Given the description of an element on the screen output the (x, y) to click on. 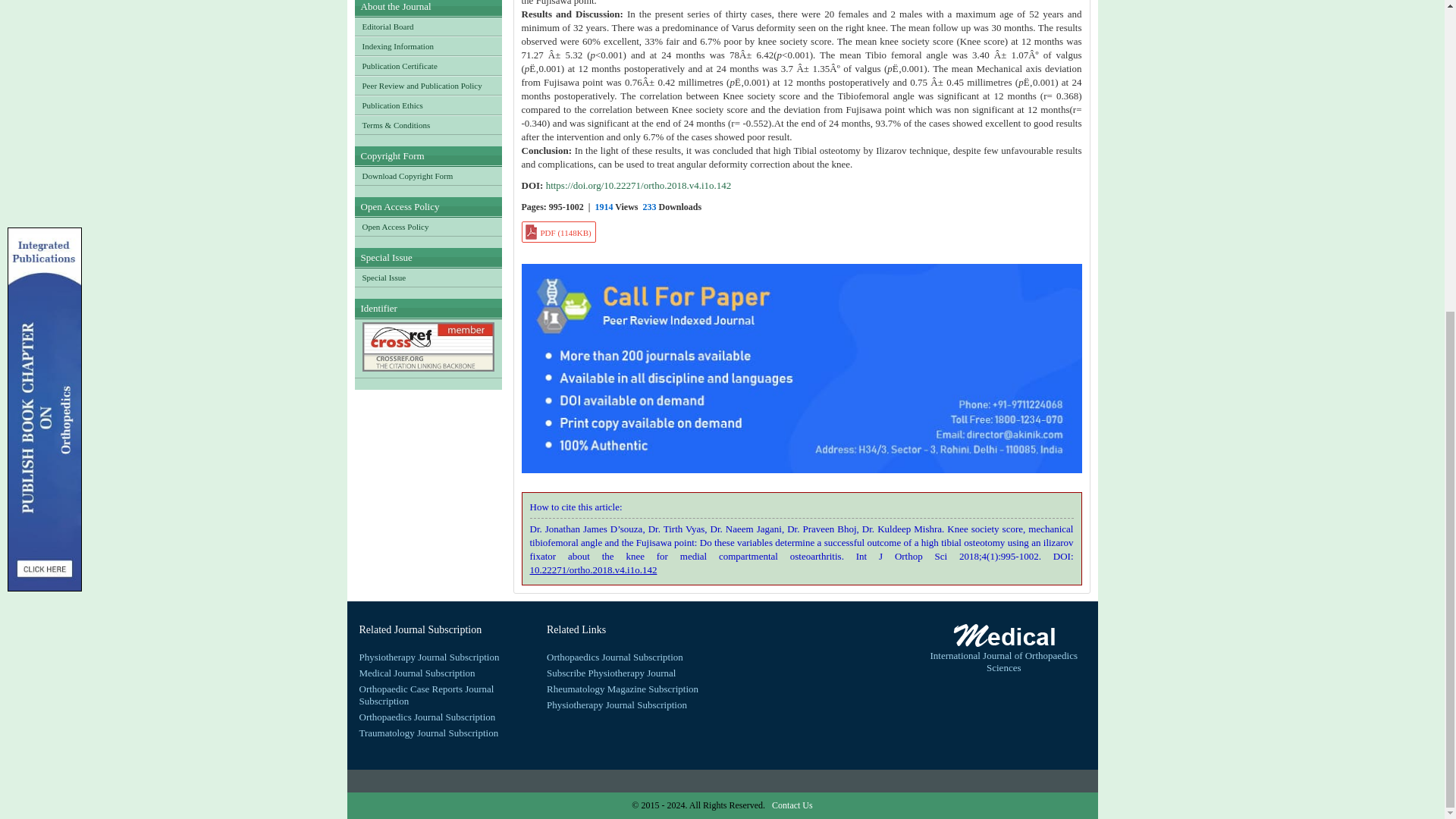
Publication Certificate (428, 65)
Download Copyright Form (428, 176)
Special Issue (428, 277)
Open Access Policy (428, 226)
Peer Review and Publication Policy (428, 85)
Editorial Board (428, 26)
Publication Ethics (428, 105)
Indexing Information (428, 45)
